Given the description of an element on the screen output the (x, y) to click on. 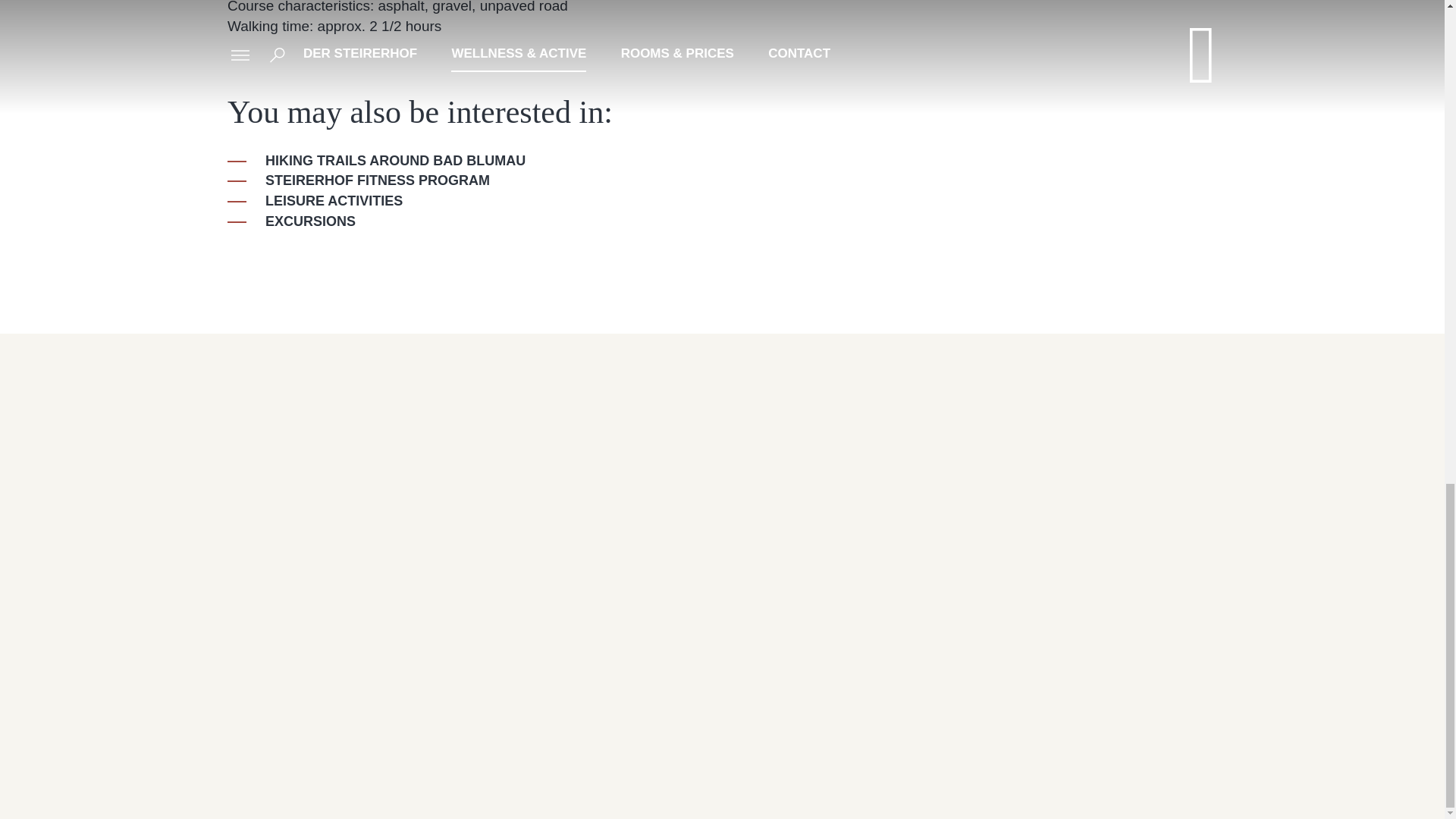
LEISURE ACTIVITIES (315, 200)
STEIRERHOF FITNESS PROGRAM (358, 180)
EXCURSIONS (291, 221)
HIKING TRAILS AROUND BAD BLUMAU (376, 160)
